Given the description of an element on the screen output the (x, y) to click on. 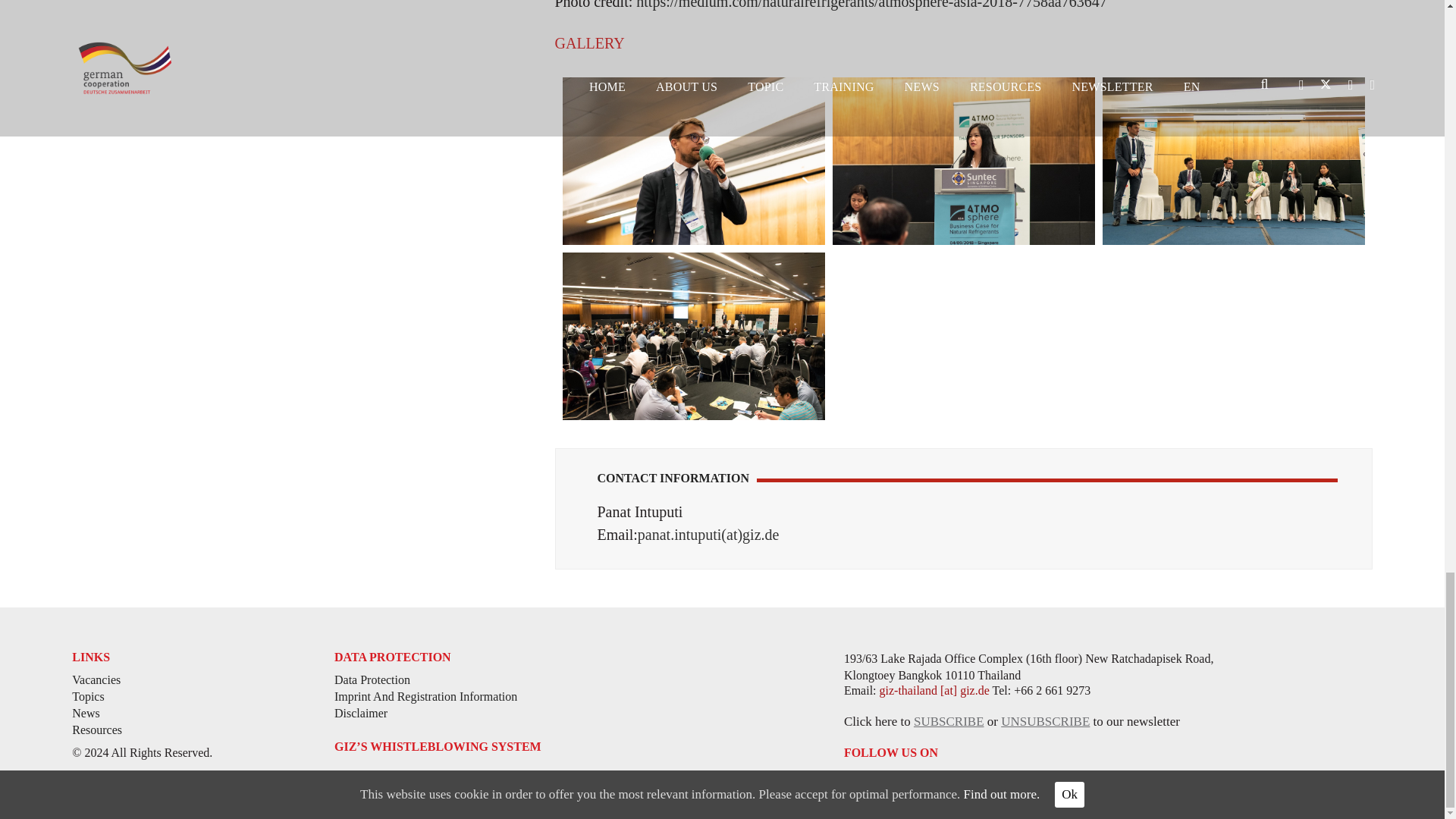
441-1 (693, 160)
441-4 (693, 336)
441-2 (963, 160)
441-3 (1233, 160)
